Given the description of an element on the screen output the (x, y) to click on. 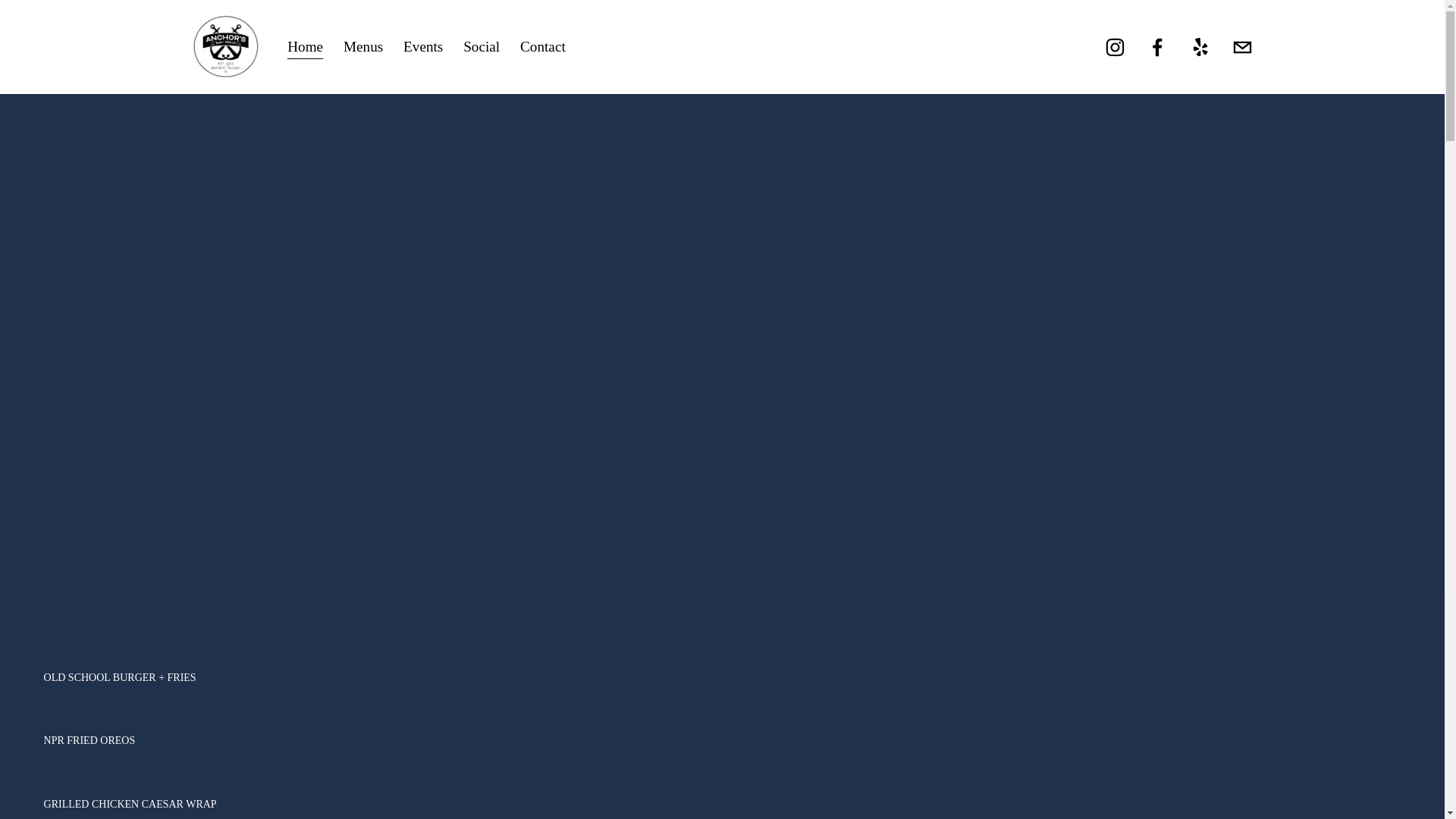
Events (422, 47)
Home (304, 47)
Social (481, 47)
Contact (542, 47)
Menus (362, 47)
